Given the description of an element on the screen output the (x, y) to click on. 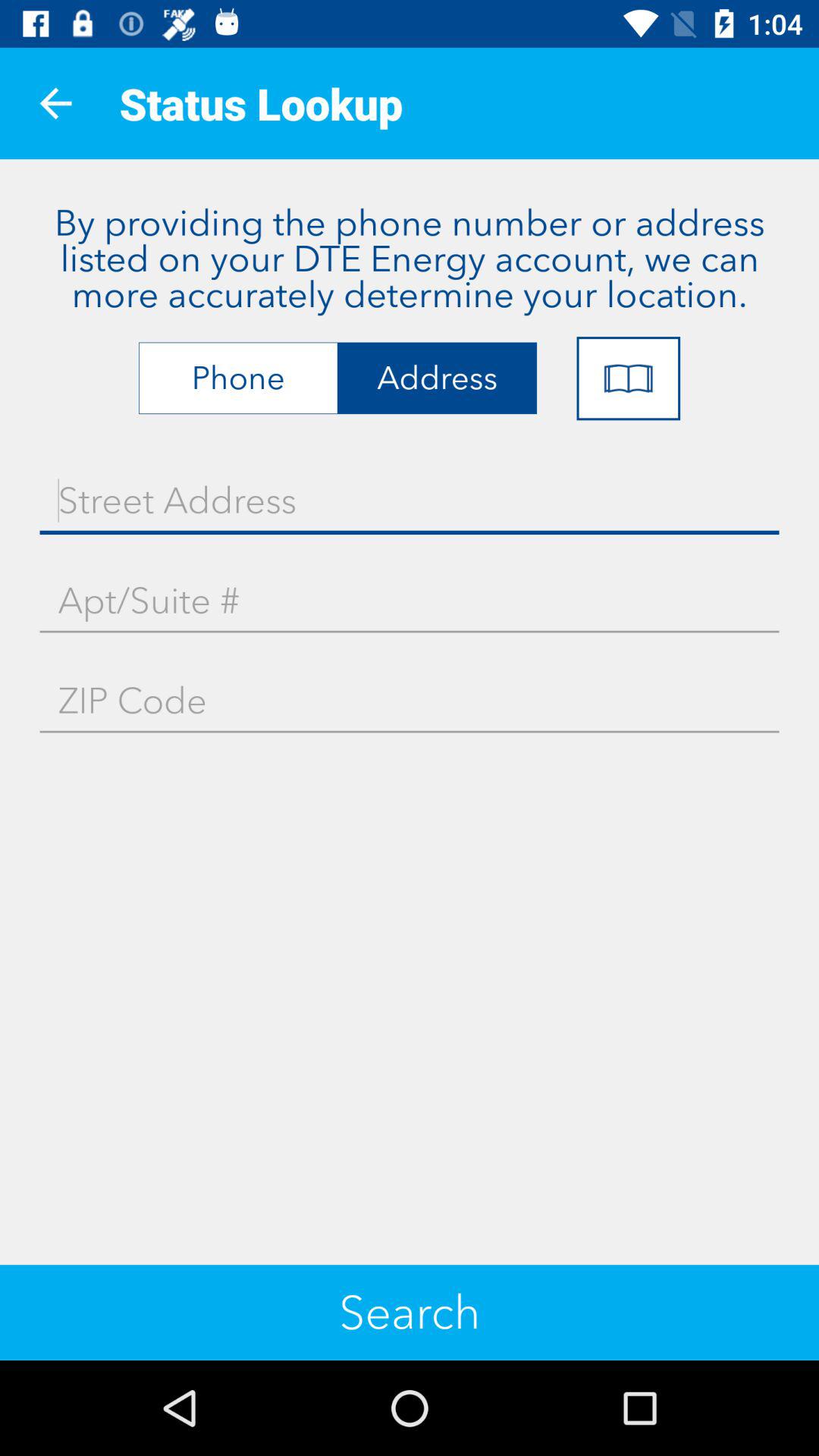
tap the item to the right of the address (628, 378)
